Given the description of an element on the screen output the (x, y) to click on. 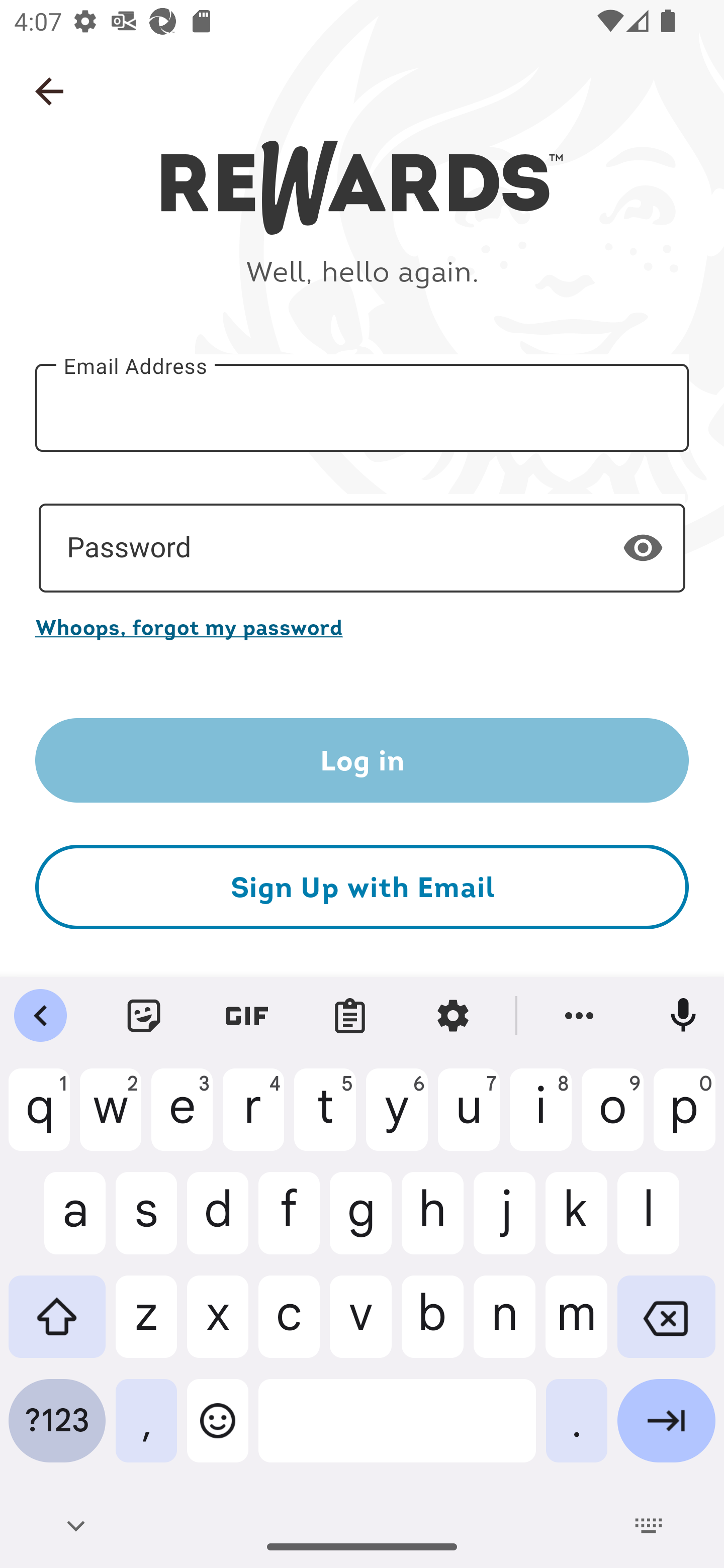
Navigate up (49, 91)
Email Address (361, 407)
Password (361, 547)
Show password (642, 546)
Whoops, forgot my password (361, 627)
Log in (361, 760)
Sign Up with Email (361, 887)
